Given the description of an element on the screen output the (x, y) to click on. 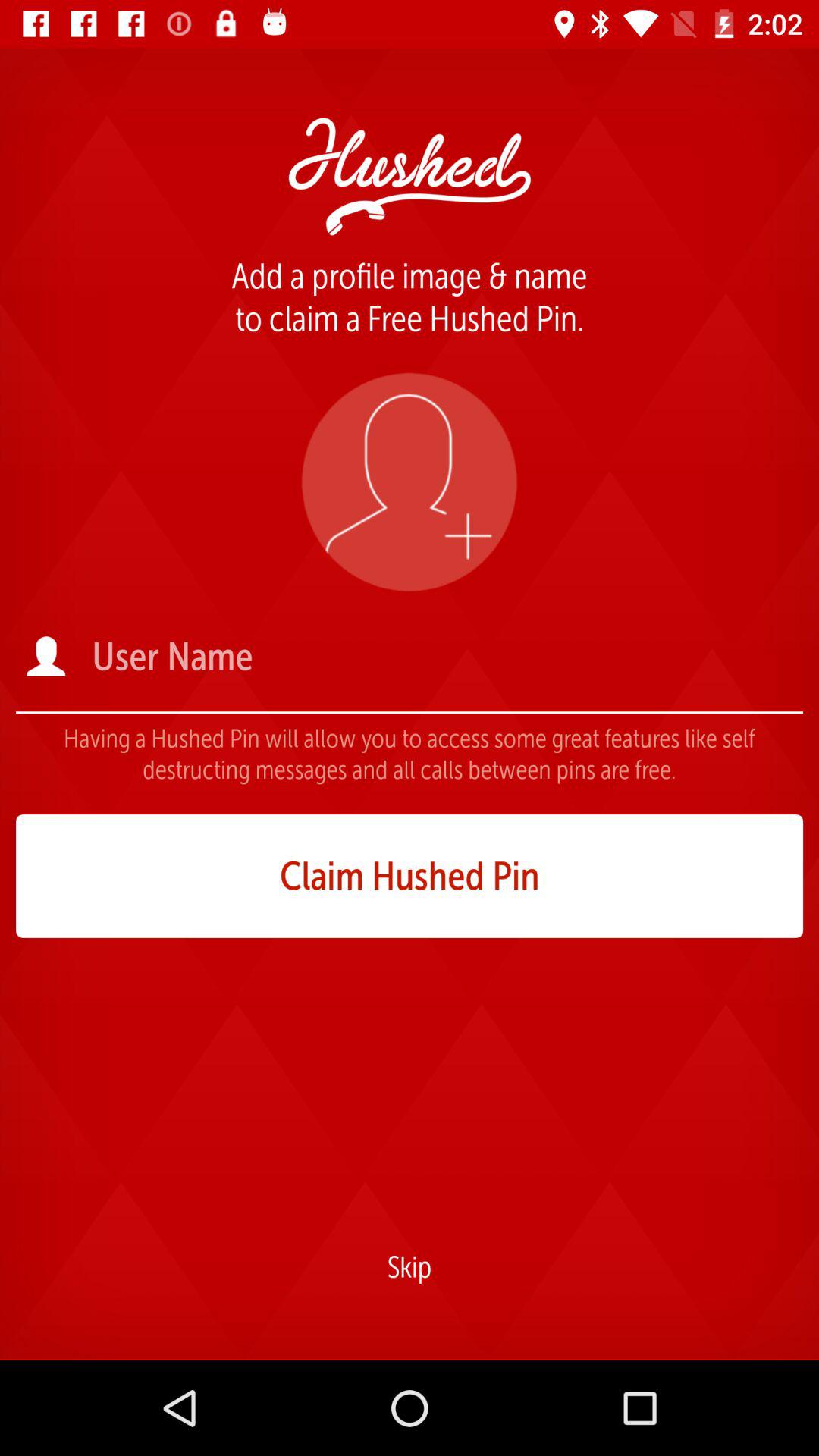
go to username (446, 656)
